Given the description of an element on the screen output the (x, y) to click on. 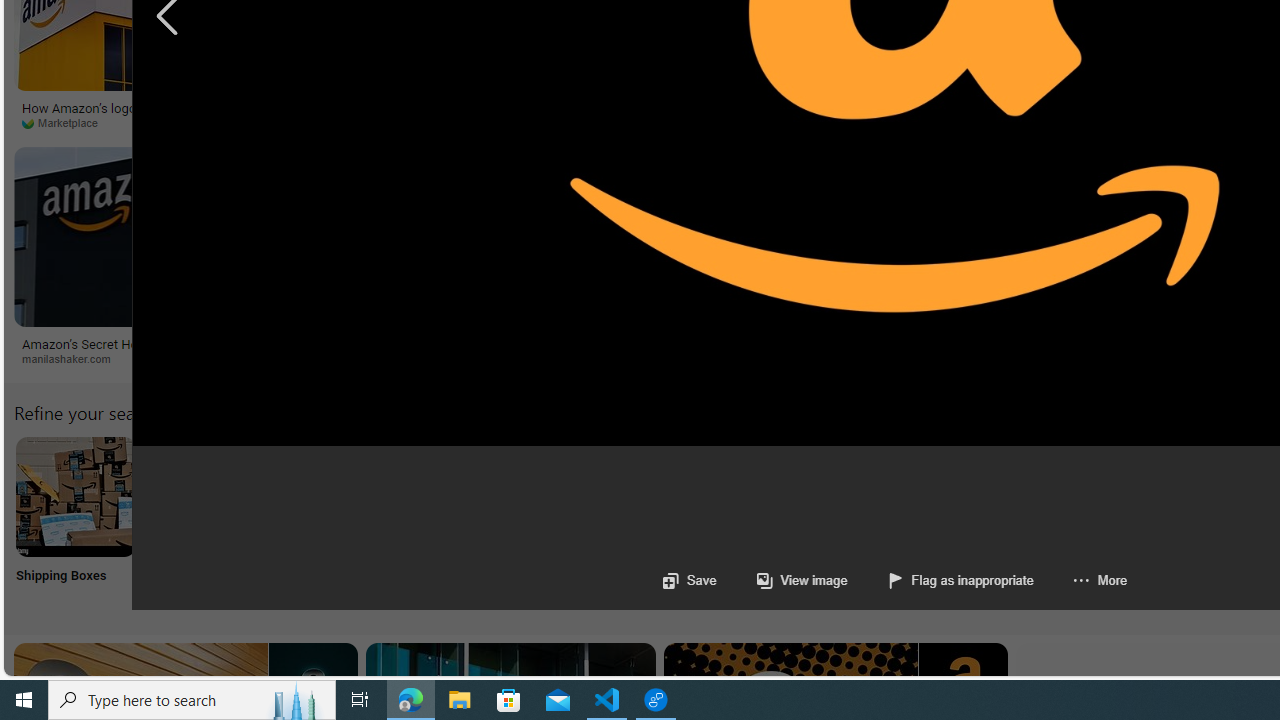
cordcuttersnews.com (412, 358)
Amazon Retail Store (867, 496)
Amazon Clip Art Clip Art (339, 521)
Amazon Log into My Account (472, 496)
agilitypr.com (1035, 358)
Package Delivery (735, 521)
More (1079, 580)
vecteezy.com (1016, 123)
Save (688, 580)
Amazon Online Store Online Store (1131, 521)
Online Store (1131, 521)
